Given the description of an element on the screen output the (x, y) to click on. 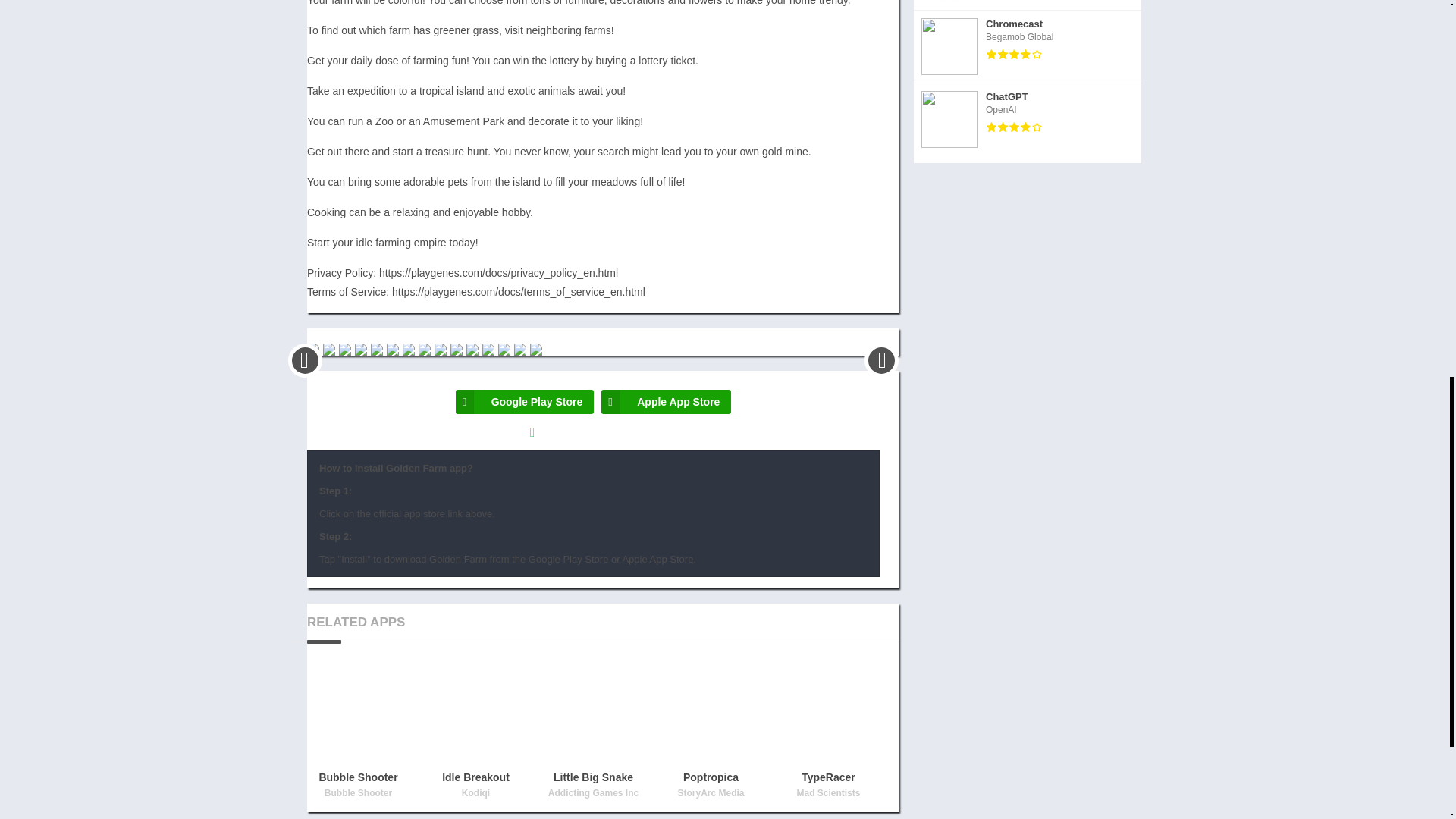
Google Play Store (524, 401)
Apple App Store (665, 401)
